Given the description of an element on the screen output the (x, y) to click on. 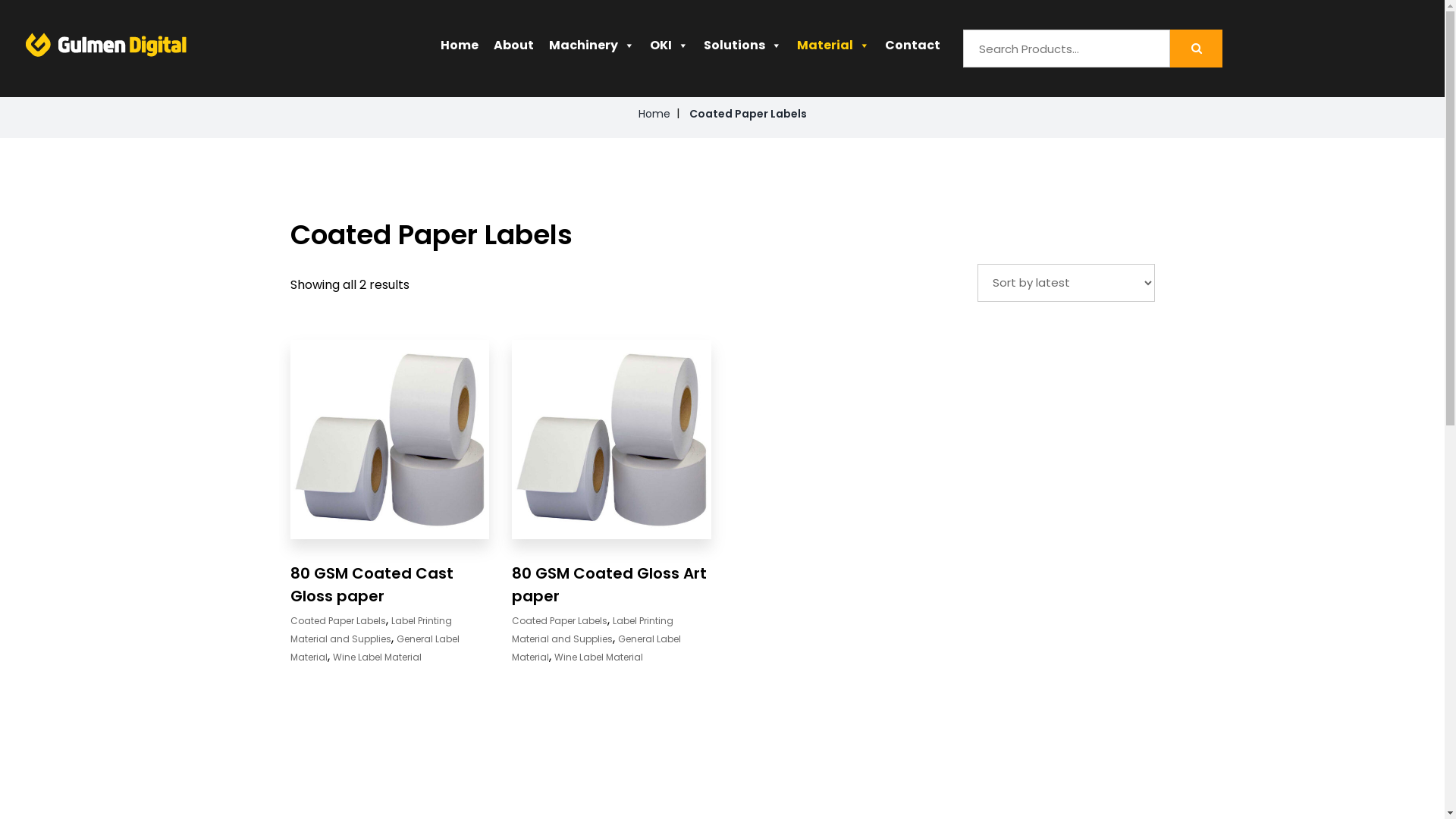
OKI Element type: text (669, 60)
Label Printing Material and Supplies Element type: text (592, 629)
Label Printing Material and Supplies Element type: text (370, 629)
Material Element type: text (833, 60)
Search for: Element type: hover (1066, 48)
Wine Label Material Element type: text (598, 656)
Coated Paper Labels Element type: text (559, 620)
80 GSM Coated Gloss Art paper Element type: text (608, 584)
Contact Element type: text (912, 60)
Wine Label Material Element type: text (376, 656)
Machinery Element type: text (591, 60)
General Label Material Element type: text (595, 647)
Solutions Element type: text (742, 60)
General Label Material Element type: text (373, 647)
Home Element type: text (661, 113)
About Element type: text (513, 60)
80 GSM Coated Cast Gloss paper Element type: text (370, 584)
Coated Paper Labels Element type: text (337, 620)
Home Element type: text (459, 60)
